Given the description of an element on the screen output the (x, y) to click on. 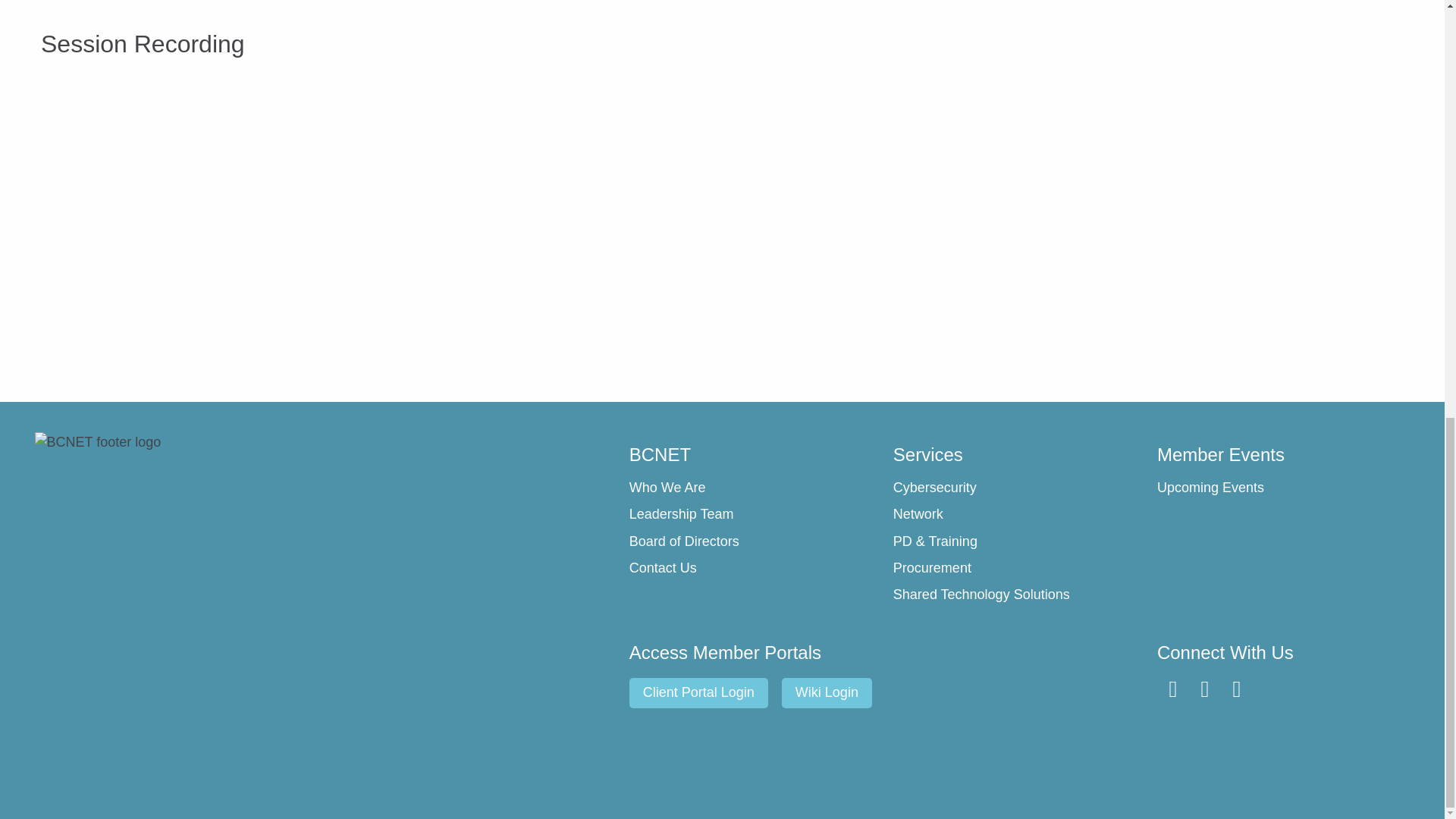
Network (1017, 514)
Board of Directors (752, 541)
Who We Are (752, 487)
Contact Us (752, 568)
Cybersecurity (1017, 487)
Leadership Team (752, 514)
